Given the description of an element on the screen output the (x, y) to click on. 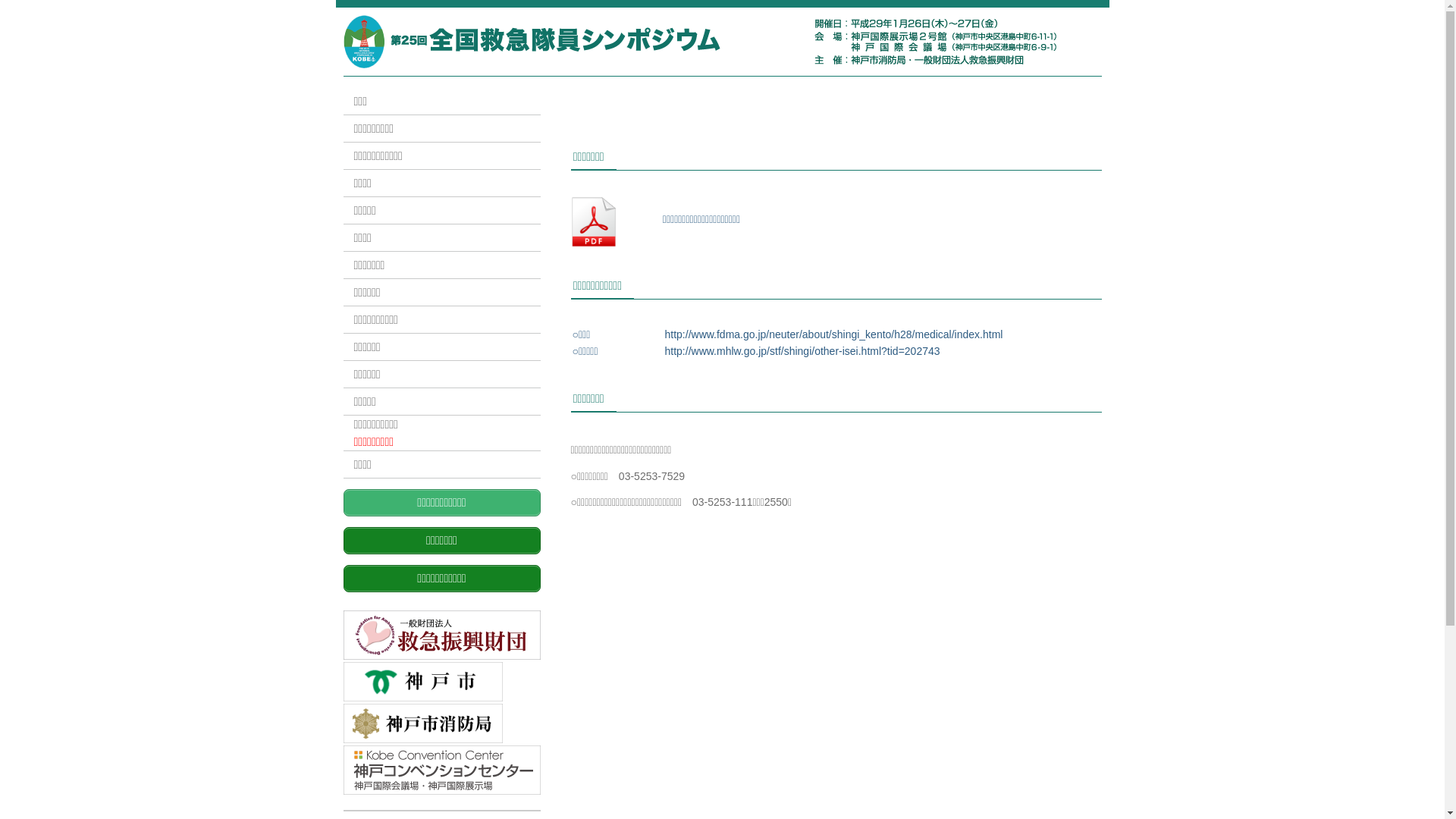
http://www.mhlw.go.jp/stf/shingi/other-isei.html?tid=202743 Element type: text (801, 351)
